Given the description of an element on the screen output the (x, y) to click on. 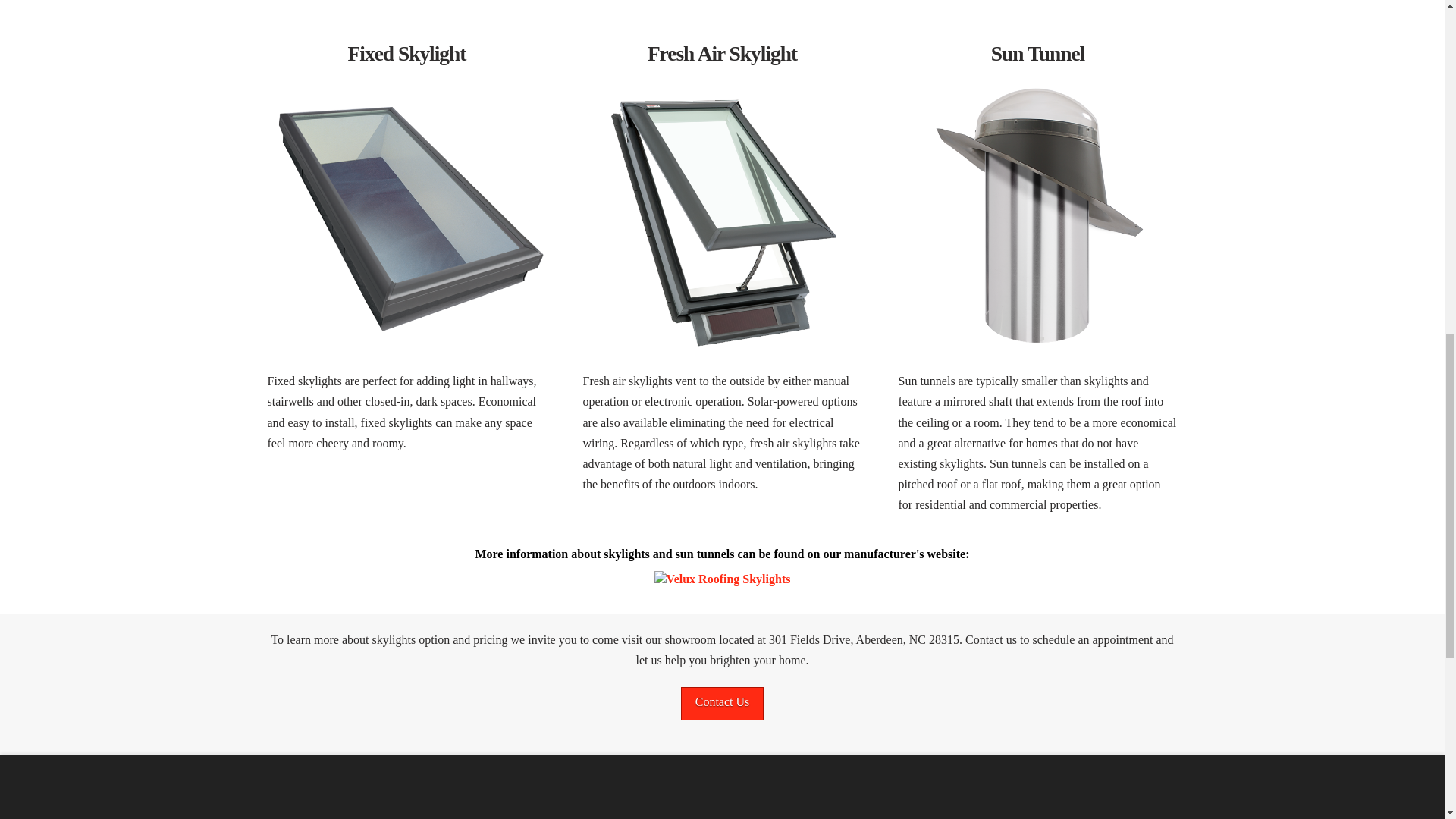
Contact Us (722, 704)
